Given the description of an element on the screen output the (x, y) to click on. 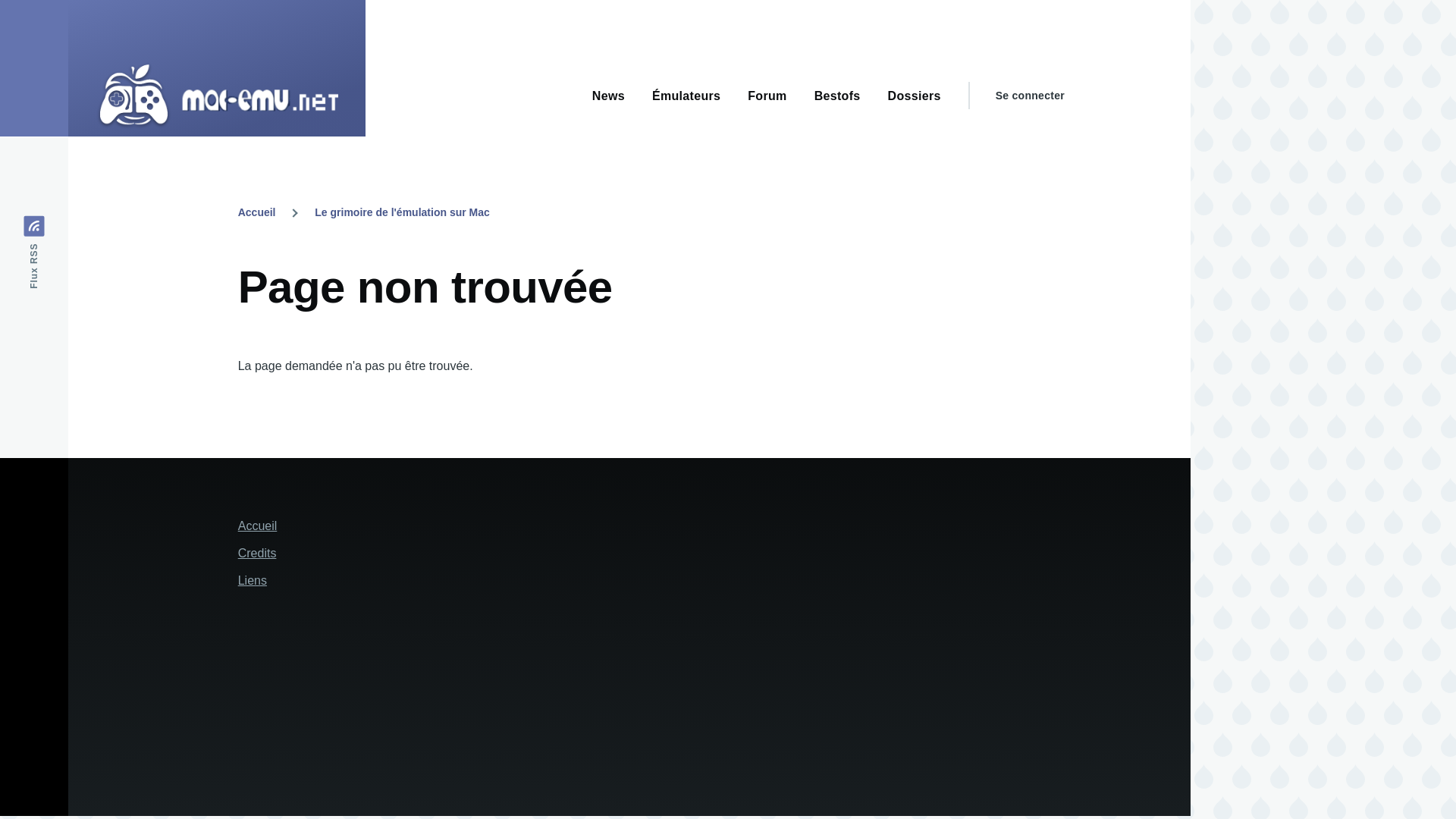
Accueil (258, 525)
Aller au contenu principal (595, 6)
Liens (252, 580)
Flux RSS (60, 225)
Credits (257, 553)
Se connecter (1029, 94)
Accueil (257, 212)
En savoir plus sur le site et formulaire de contact (257, 553)
